Given the description of an element on the screen output the (x, y) to click on. 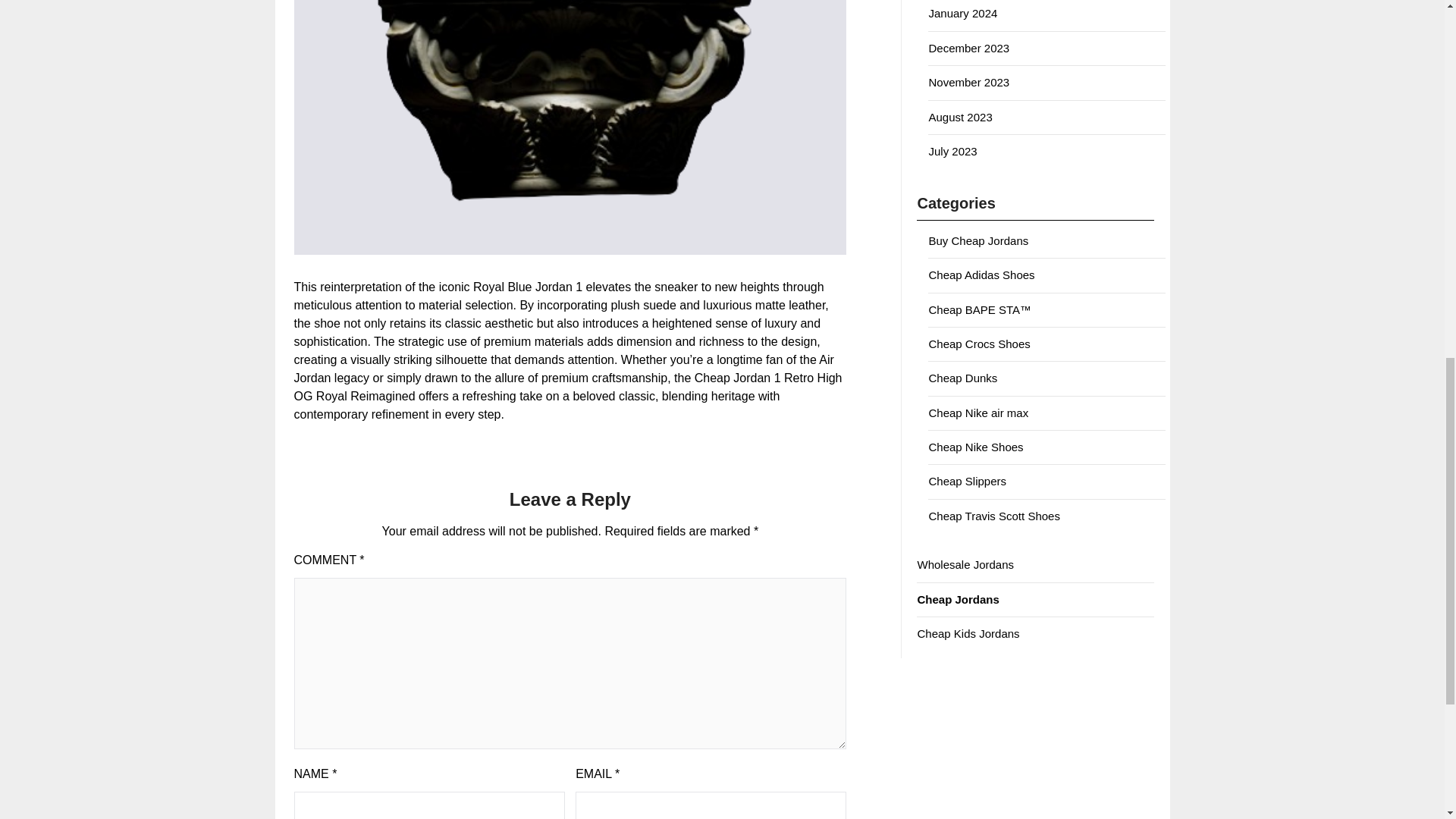
December 2023 (968, 47)
Wholesale Jordans (965, 563)
Cheap Jordans (957, 599)
November 2023 (968, 82)
July 2023 (952, 151)
Cheap Adidas Shoes (980, 274)
August 2023 (959, 116)
Cheap Slippers (967, 481)
Cheap Dunks (962, 377)
Cheap Nike Shoes (975, 446)
Cheap Crocs Shoes (978, 343)
Cheap Kids Jordans (968, 633)
Cheap Travis Scott Shoes (993, 515)
Cheap Nike air max (977, 412)
Buy Cheap Jordans (977, 240)
